Given the description of an element on the screen output the (x, y) to click on. 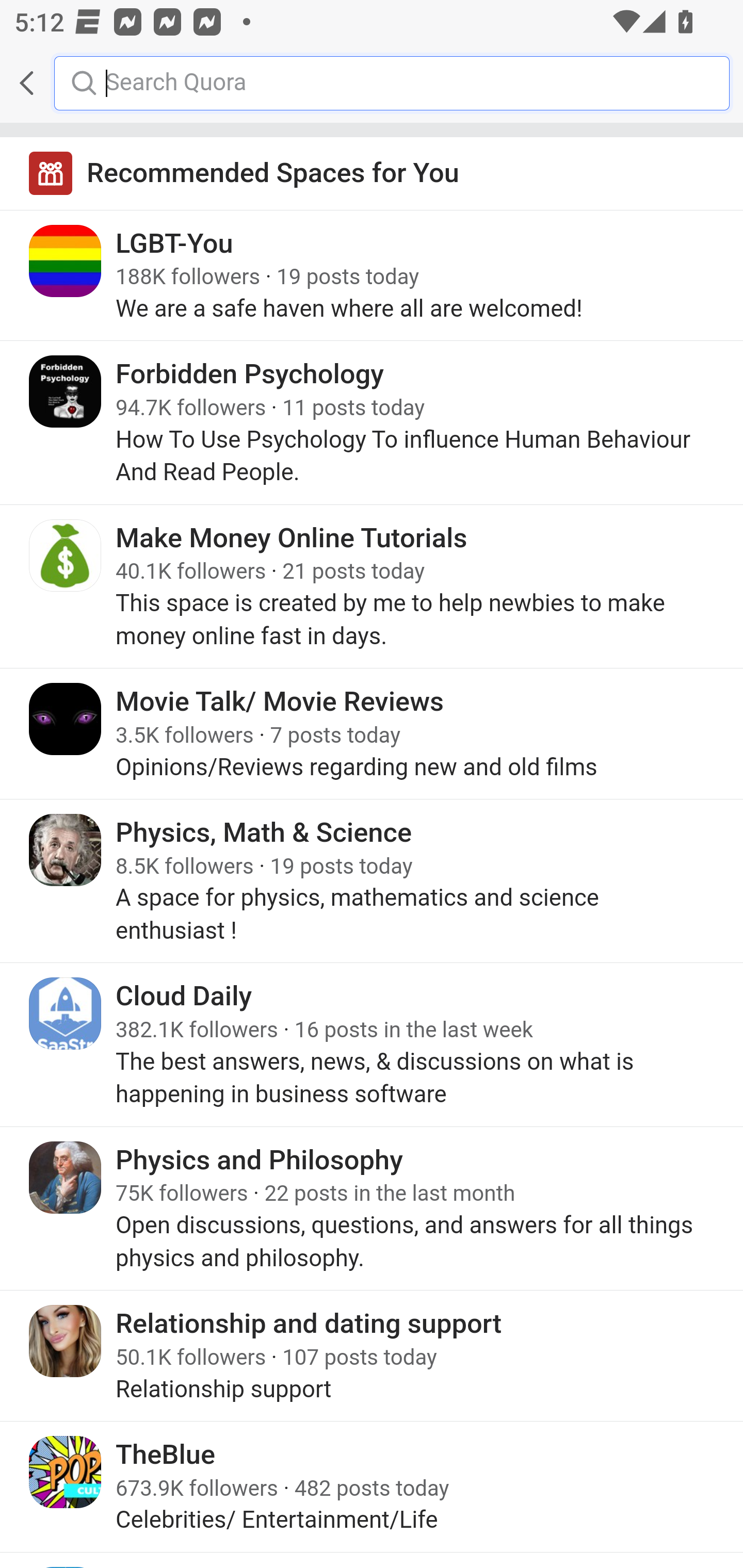
Me (64, 83)
Icon for LGBT-You (65, 260)
Icon for Forbidden Psychology (65, 391)
Icon for Make Money Online Tutorials (65, 554)
Icon for Movie Talk/ Movie Reviews (65, 718)
Icon for Physics, Math & Science (65, 849)
Icon for Cloud Daily (65, 1013)
Icon for Physics and Philosophy (65, 1178)
Icon for Relationship and dating support (65, 1341)
Icon for TheBlue (65, 1471)
